Given the description of an element on the screen output the (x, y) to click on. 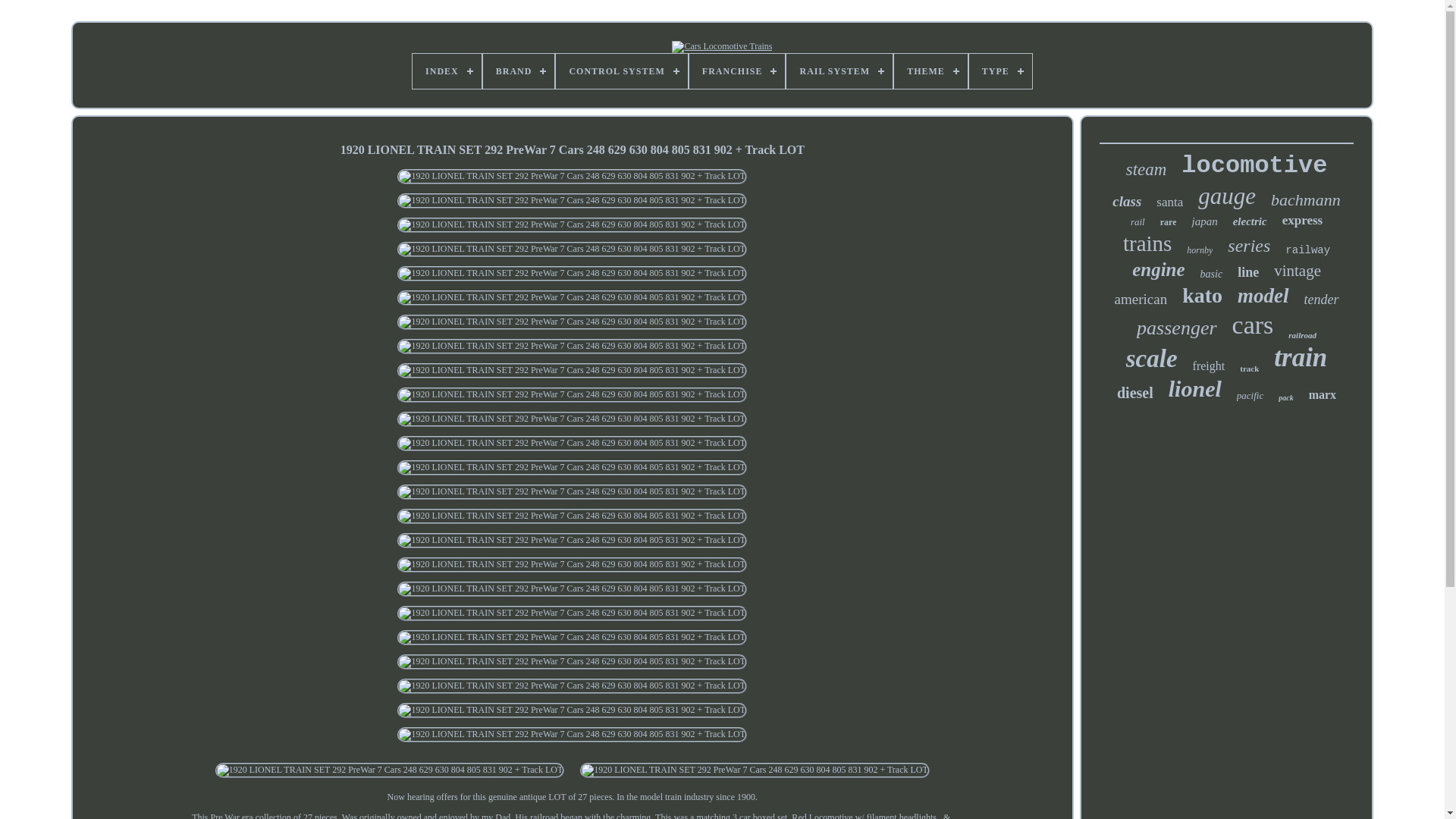
INDEX (446, 71)
BRAND (518, 71)
CONTROL SYSTEM (621, 71)
